Given the description of an element on the screen output the (x, y) to click on. 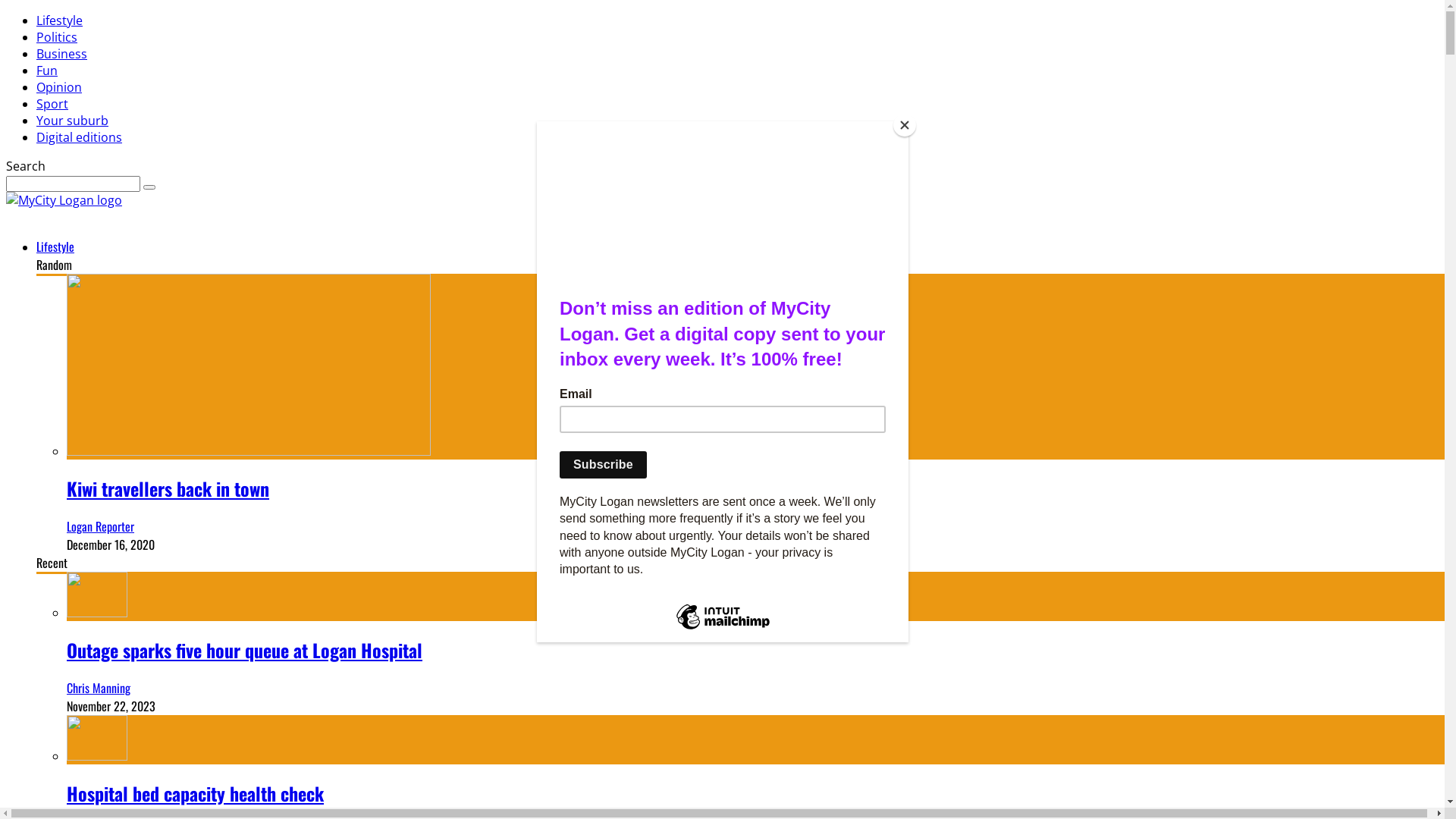
Opinion Element type: text (58, 86)
Chris Manning Element type: text (98, 687)
Digital editions Element type: text (79, 136)
Logan Reporter Element type: text (100, 526)
Politics Element type: text (56, 36)
Sport Element type: text (52, 103)
Lifestyle Element type: text (55, 246)
Kiwi travellers back in town Element type: text (167, 488)
Business Element type: text (61, 53)
Fun Element type: text (46, 70)
Outage sparks five hour queue at Logan Hospital Element type: text (244, 649)
Hospital bed capacity health check Element type: text (194, 792)
Your suburb Element type: text (72, 120)
Lifestyle Element type: text (59, 20)
